Given the description of an element on the screen output the (x, y) to click on. 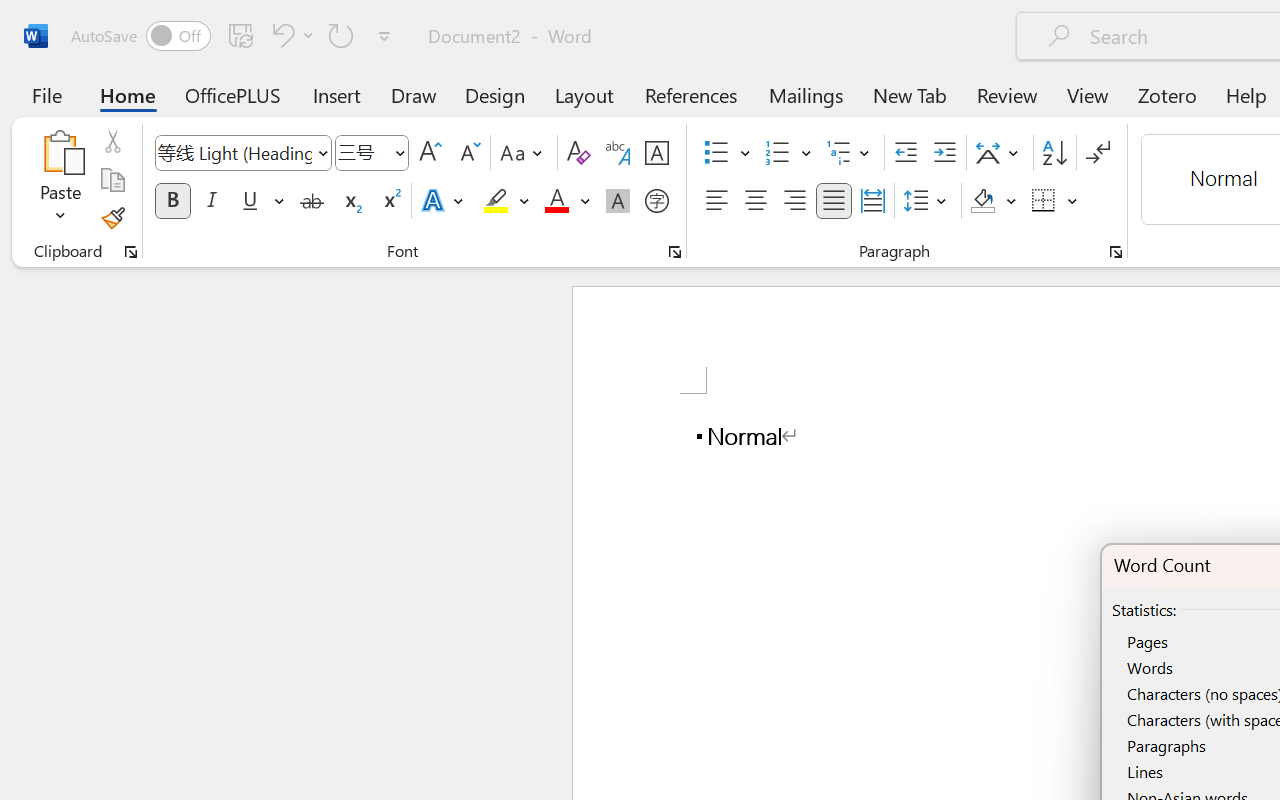
Borders (1055, 201)
Bullets (727, 153)
